Given the description of an element on the screen output the (x, y) to click on. 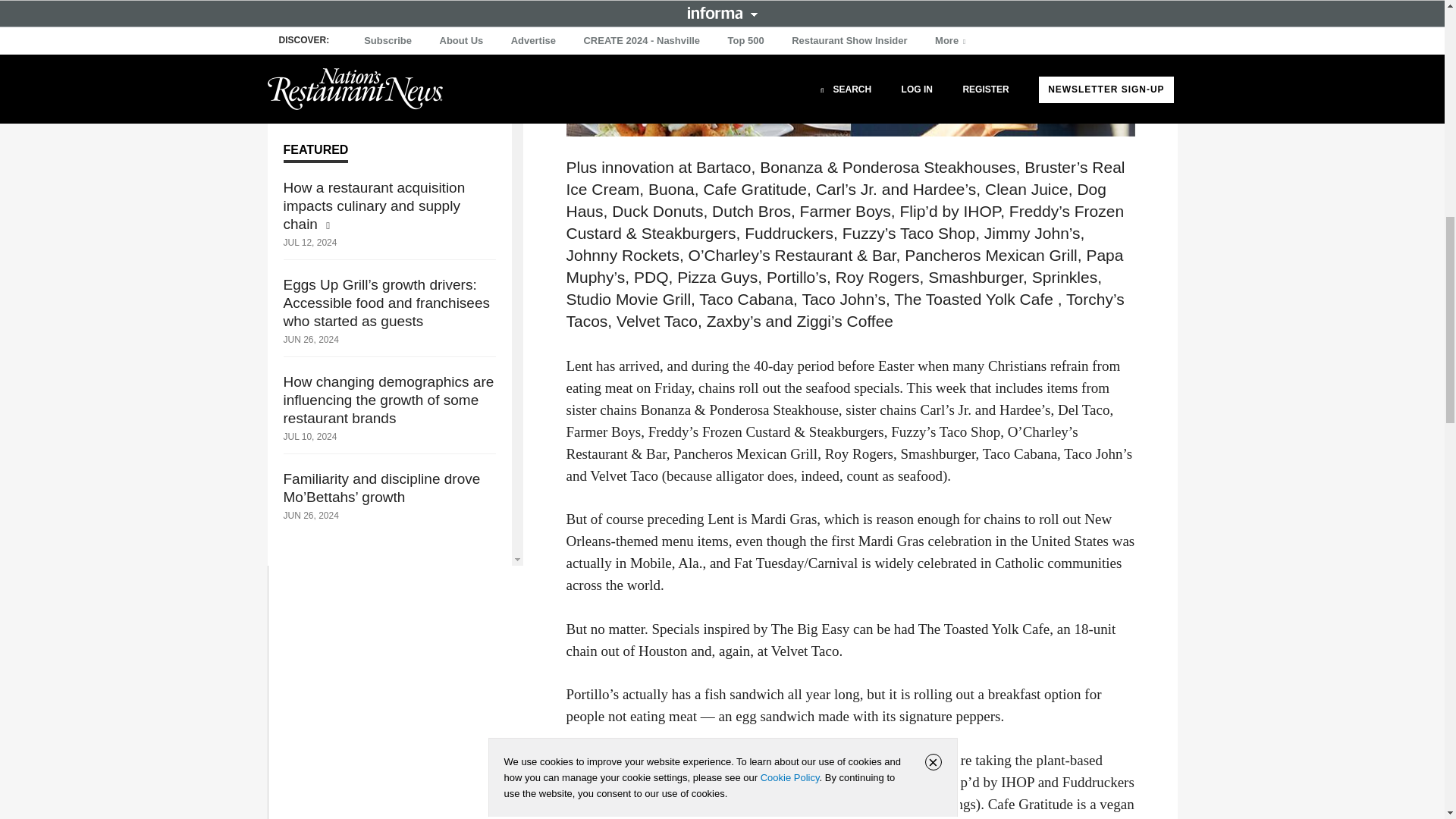
MENU-TRACKER-MARCH-4.jpg (850, 68)
